Given the description of an element on the screen output the (x, y) to click on. 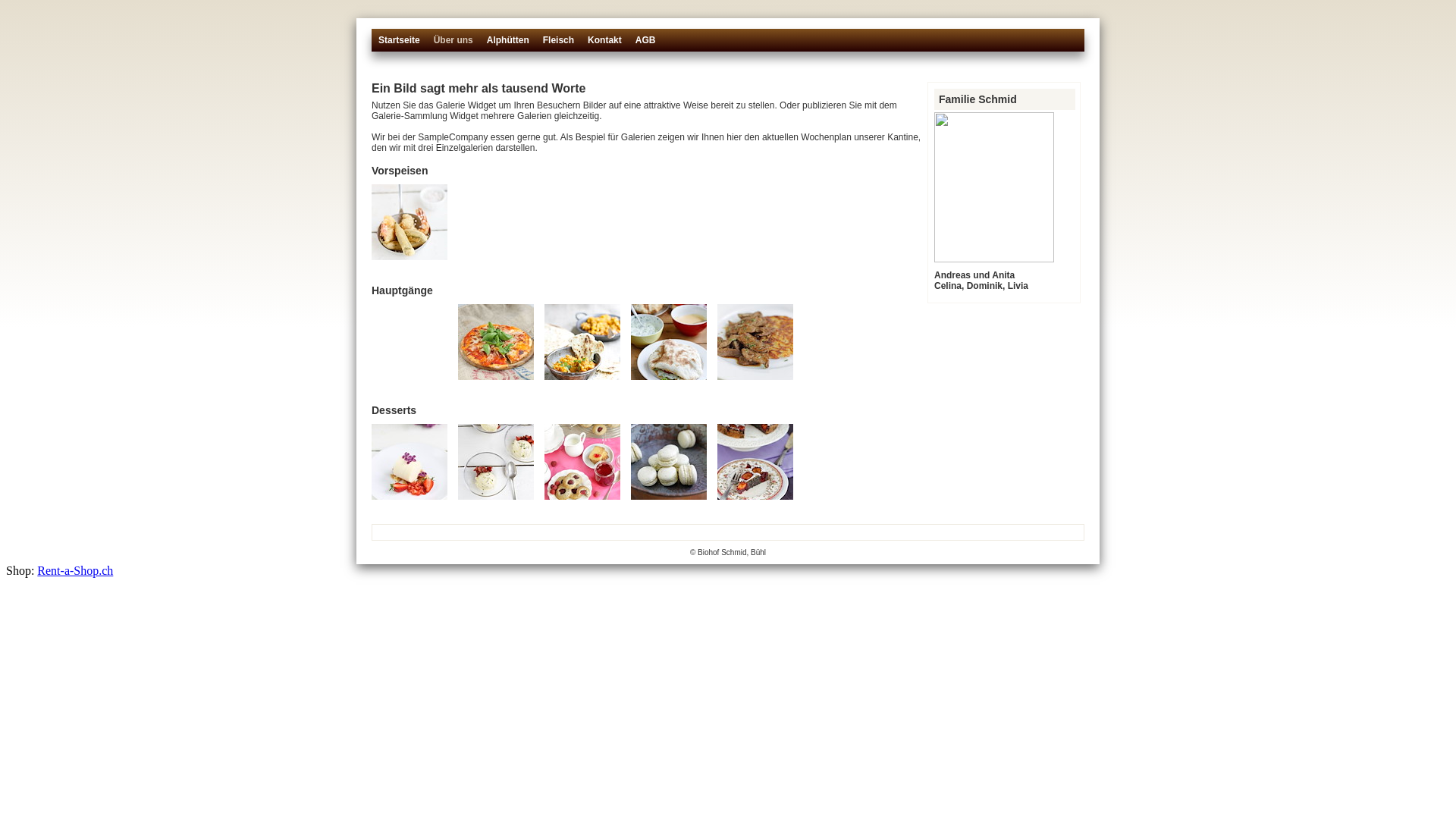
Kontakt Element type: text (604, 45)
AGB Element type: text (645, 45)
Rent-a-Shop.ch Element type: text (74, 570)
Startseite Element type: text (398, 45)
Fleisch Element type: text (558, 45)
